Given the description of an element on the screen output the (x, y) to click on. 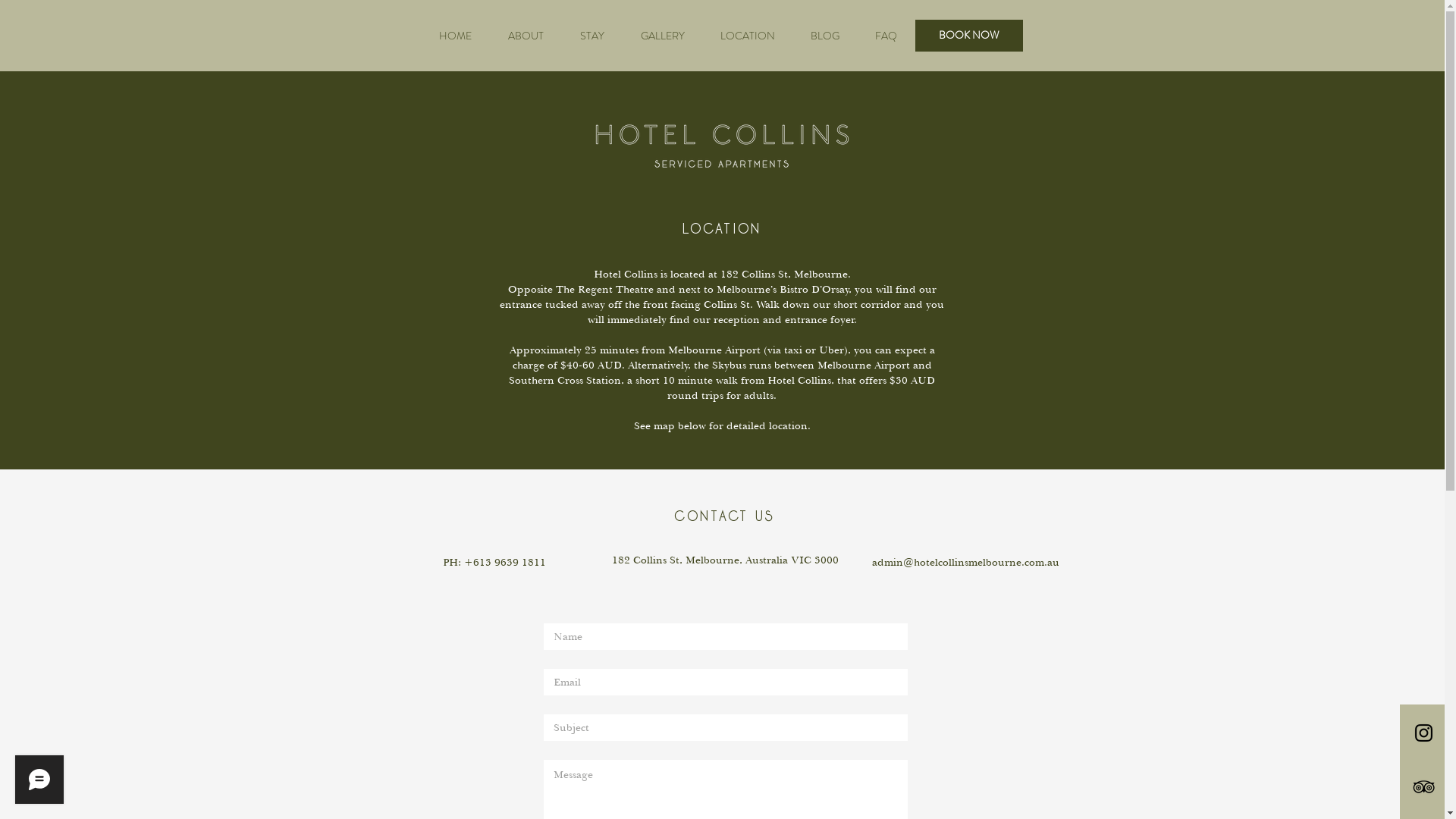
admin@hotelcollinsmelbourne.com.au Element type: text (965, 561)
FAQ Element type: text (885, 35)
GALLERY Element type: text (661, 35)
HOME Element type: text (454, 35)
LOCATION Element type: text (747, 35)
BLOG Element type: text (825, 35)
ABOUT Element type: text (525, 35)
STAY Element type: text (591, 35)
BOOK NOW Element type: text (968, 35)
